Given the description of an element on the screen output the (x, y) to click on. 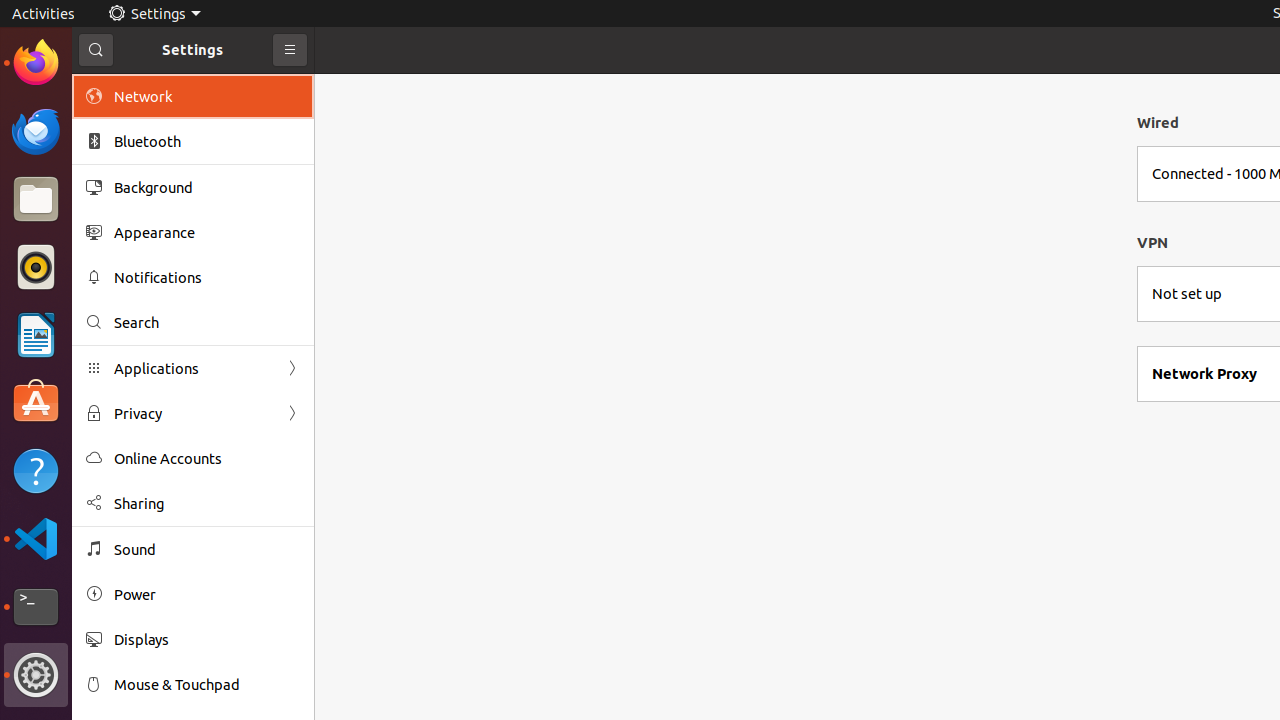
IsaHelpMain.desktop Element type: label (133, 300)
Applications Element type: label (193, 368)
Primary Menu Element type: toggle-button (290, 50)
Sharing Element type: label (207, 503)
